Given the description of an element on the screen output the (x, y) to click on. 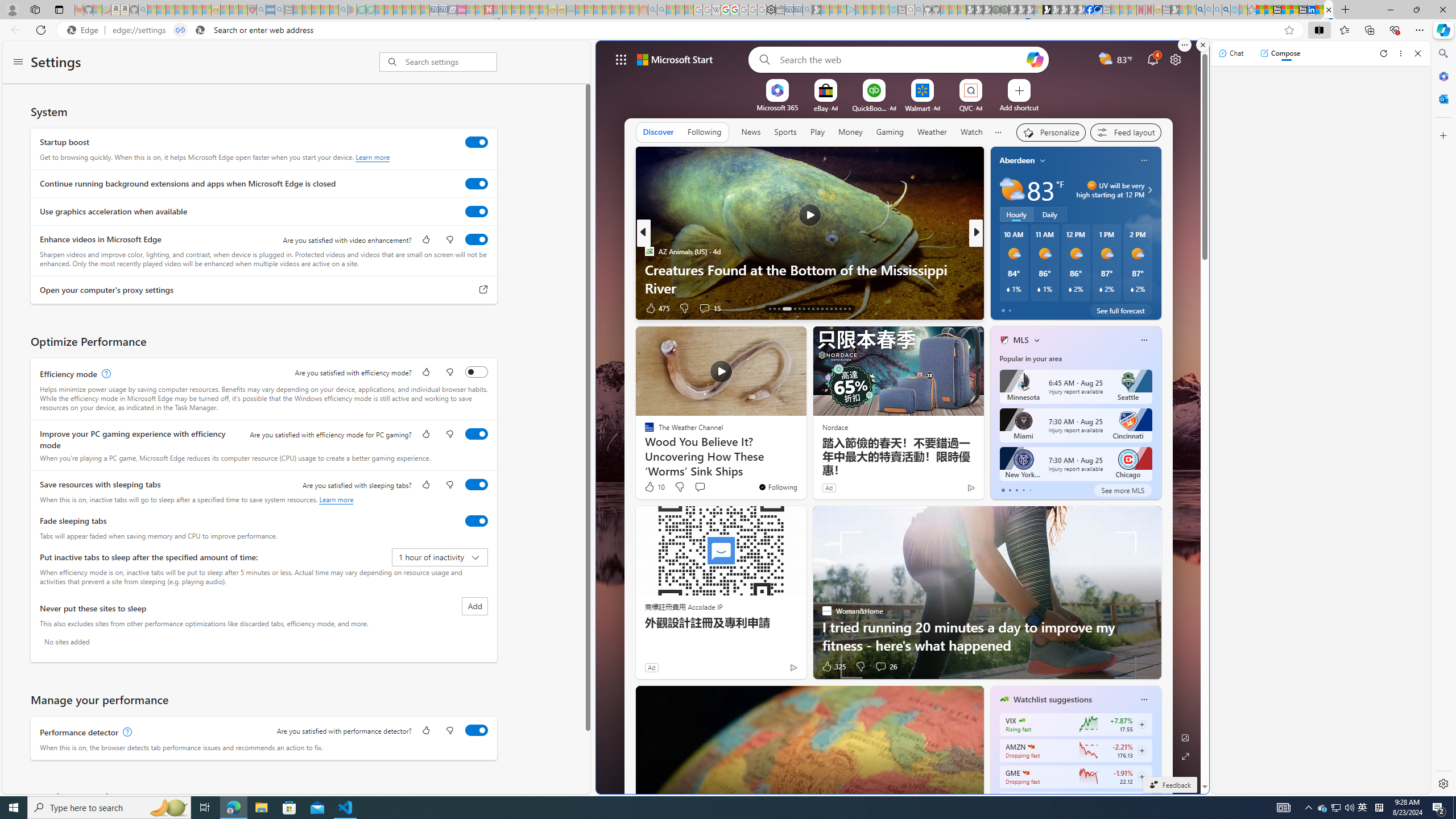
TechRadar (999, 250)
Edge (84, 29)
AutomationID: tab-36 (849, 308)
Feed settings (1125, 132)
You're following The Weather Channel (777, 486)
View comments 15 Comment (709, 307)
Forge of Empires (1020, 269)
